Given the description of an element on the screen output the (x, y) to click on. 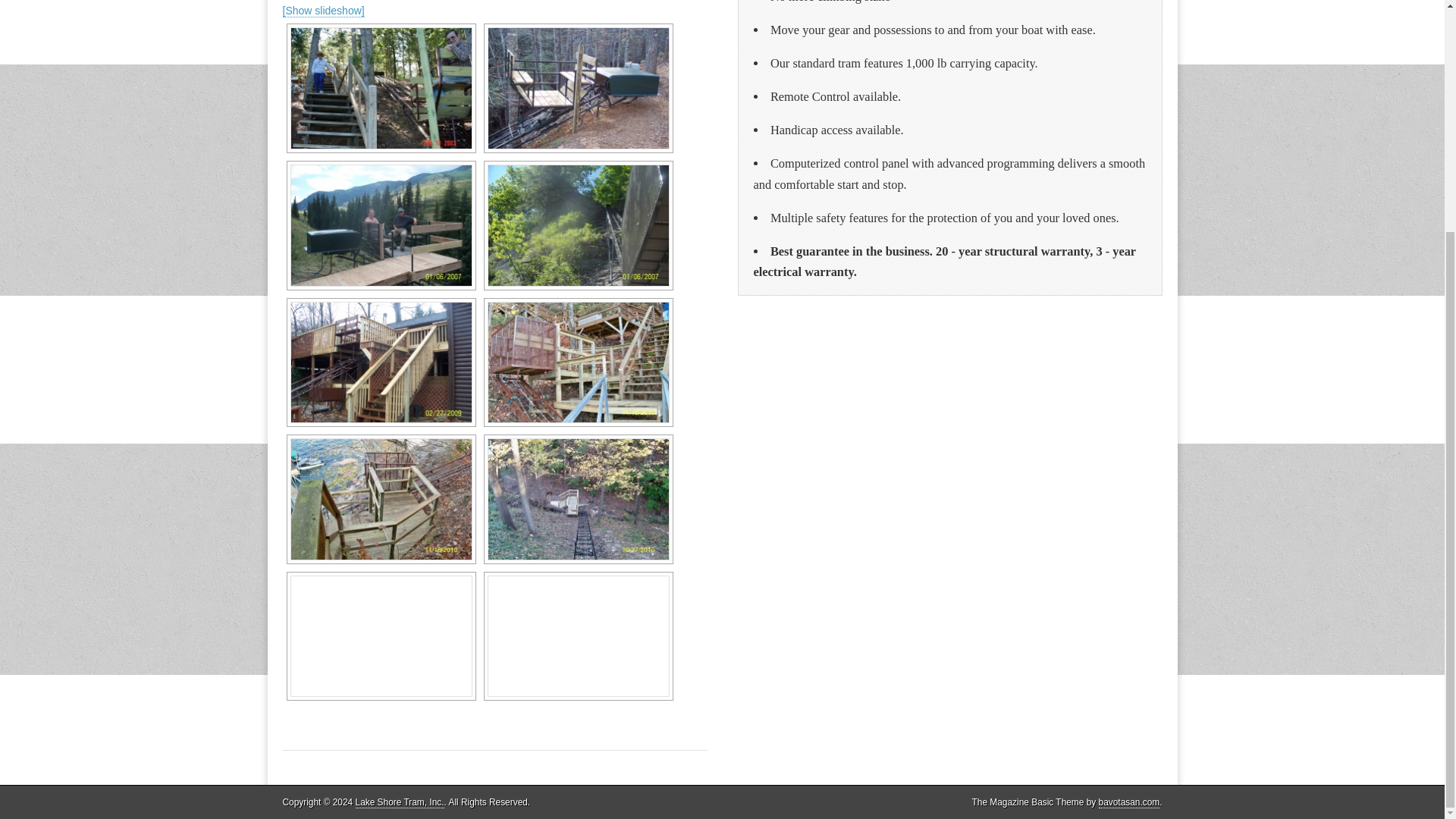
008 (380, 499)
363 (380, 363)
062 (577, 225)
Lake Shore Tram, Inc. (399, 802)
DSC00032 (380, 88)
029 (380, 225)
bavotasan.com (1129, 802)
007 (577, 363)
